Given the description of an element on the screen output the (x, y) to click on. 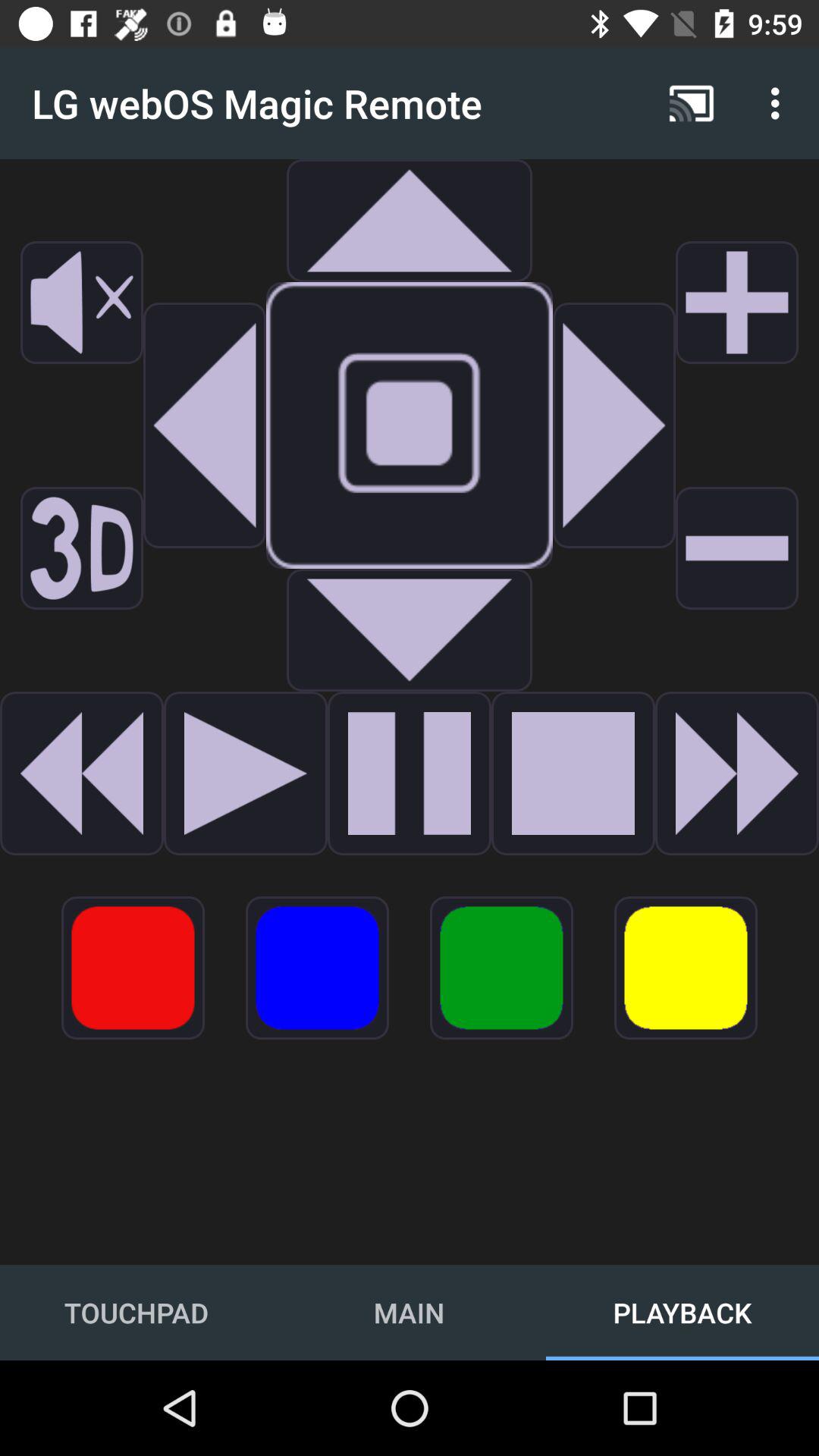
volume down (736, 547)
